Given the description of an element on the screen output the (x, y) to click on. 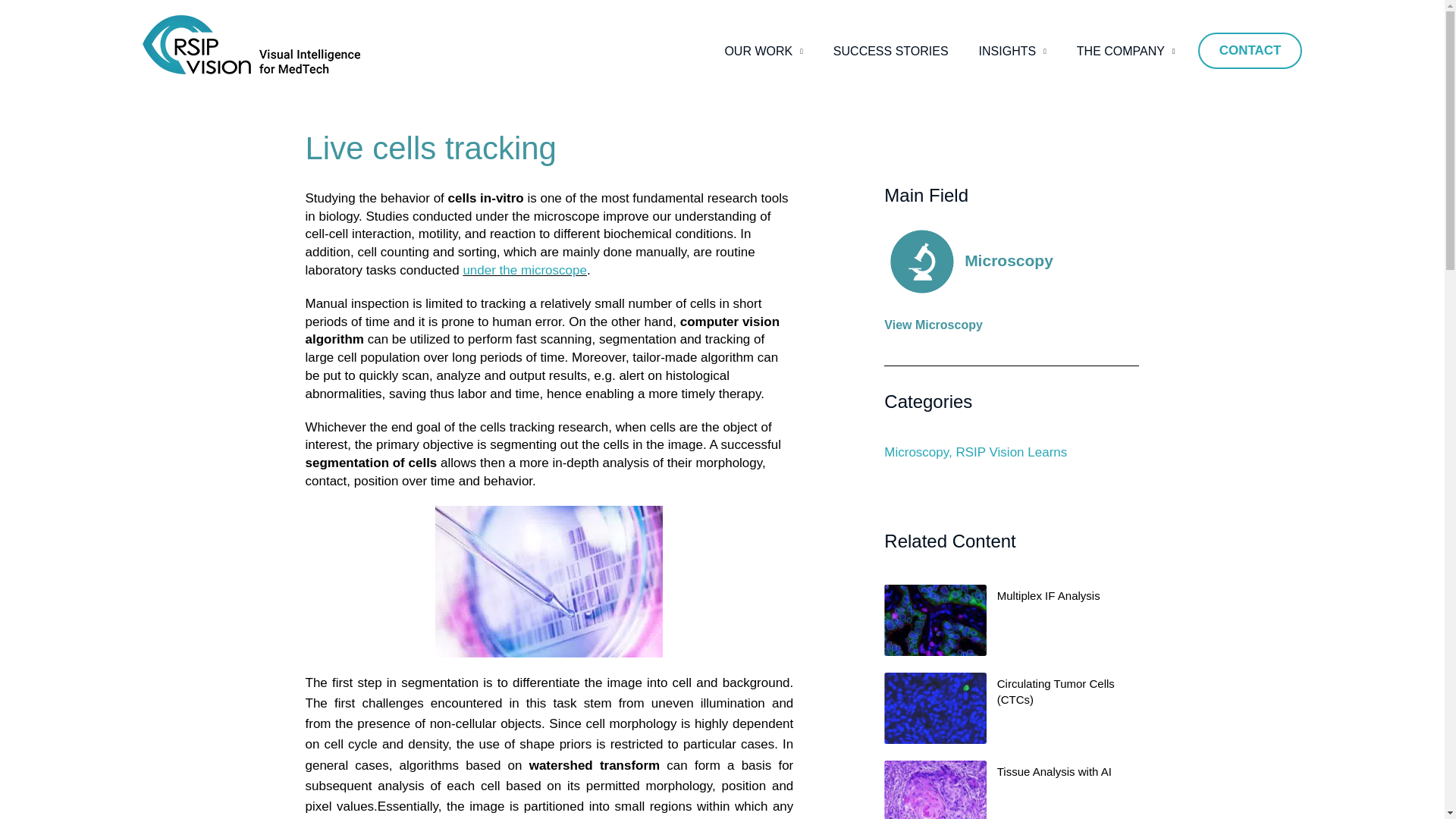
SUCCESS STORIES (890, 51)
OUR WORK (762, 51)
THE COMPANY (1126, 51)
INSIGHTS (1012, 51)
